Given the description of an element on the screen output the (x, y) to click on. 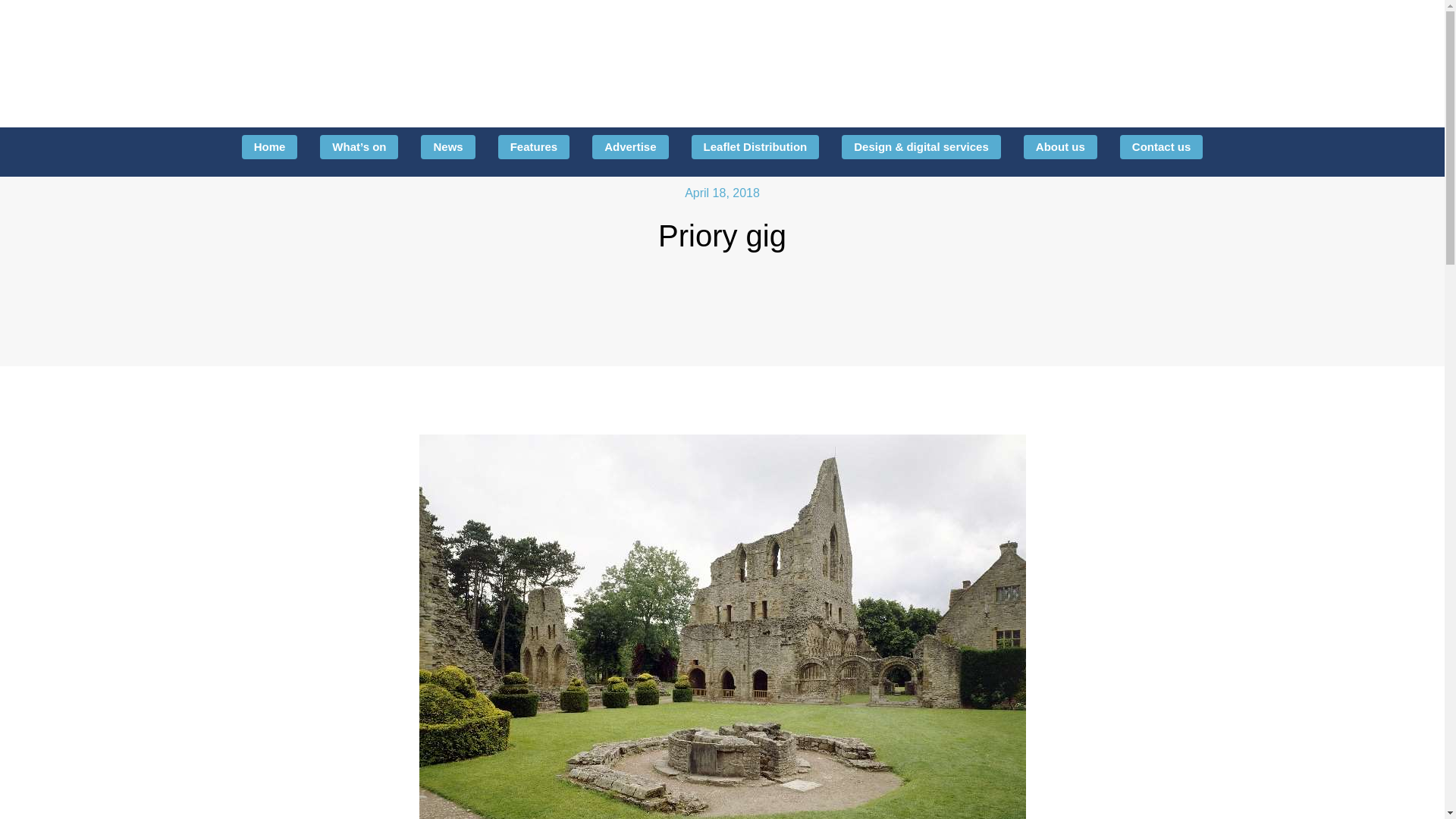
About us (1060, 146)
News (447, 146)
Home (269, 146)
Advertise (630, 146)
Features (533, 146)
April 18, 2018 (722, 193)
Leaflet Distribution (755, 146)
Contact us (1161, 146)
